Given the description of an element on the screen output the (x, y) to click on. 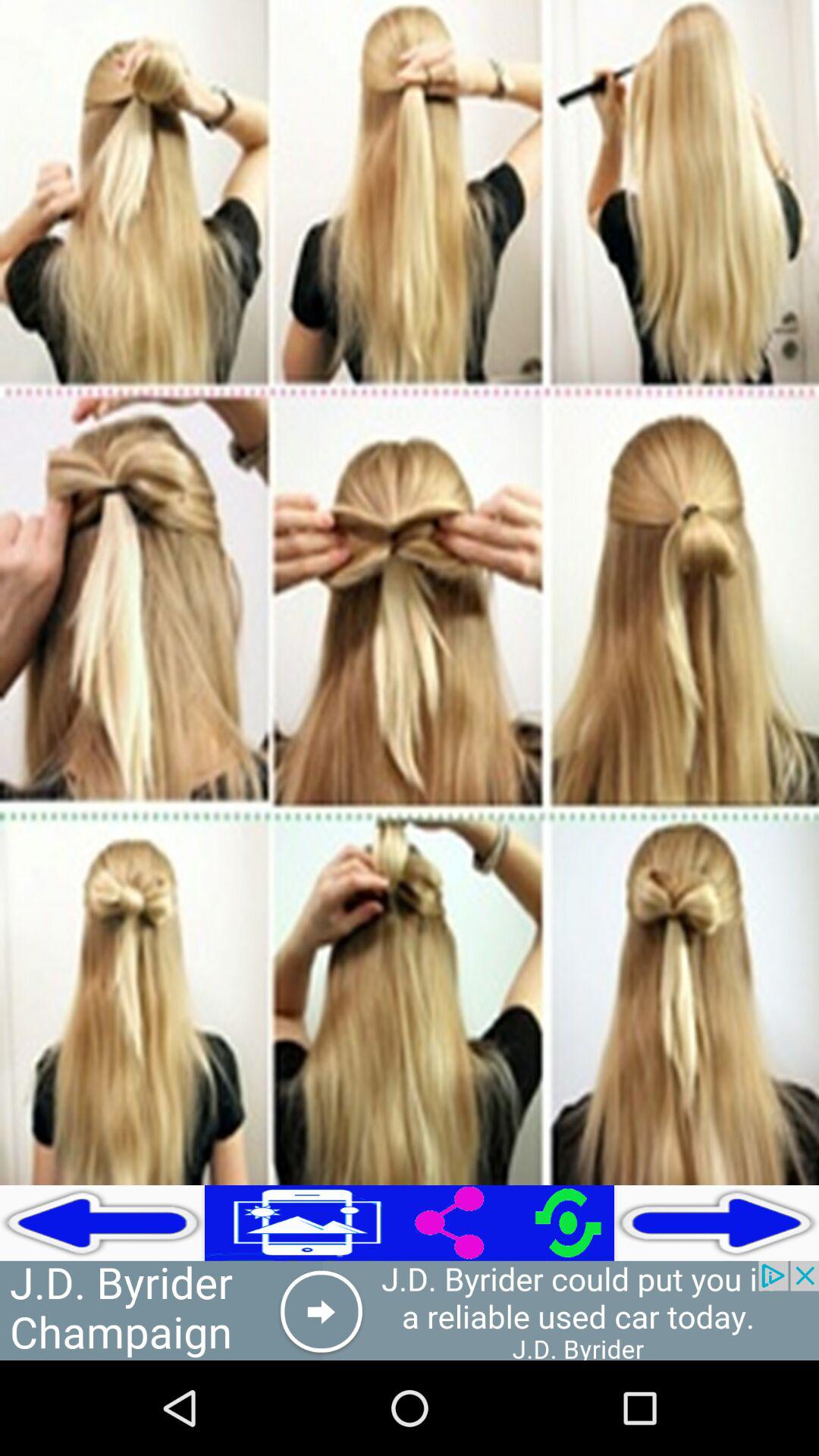
share and rotation option (511, 1222)
